Given the description of an element on the screen output the (x, y) to click on. 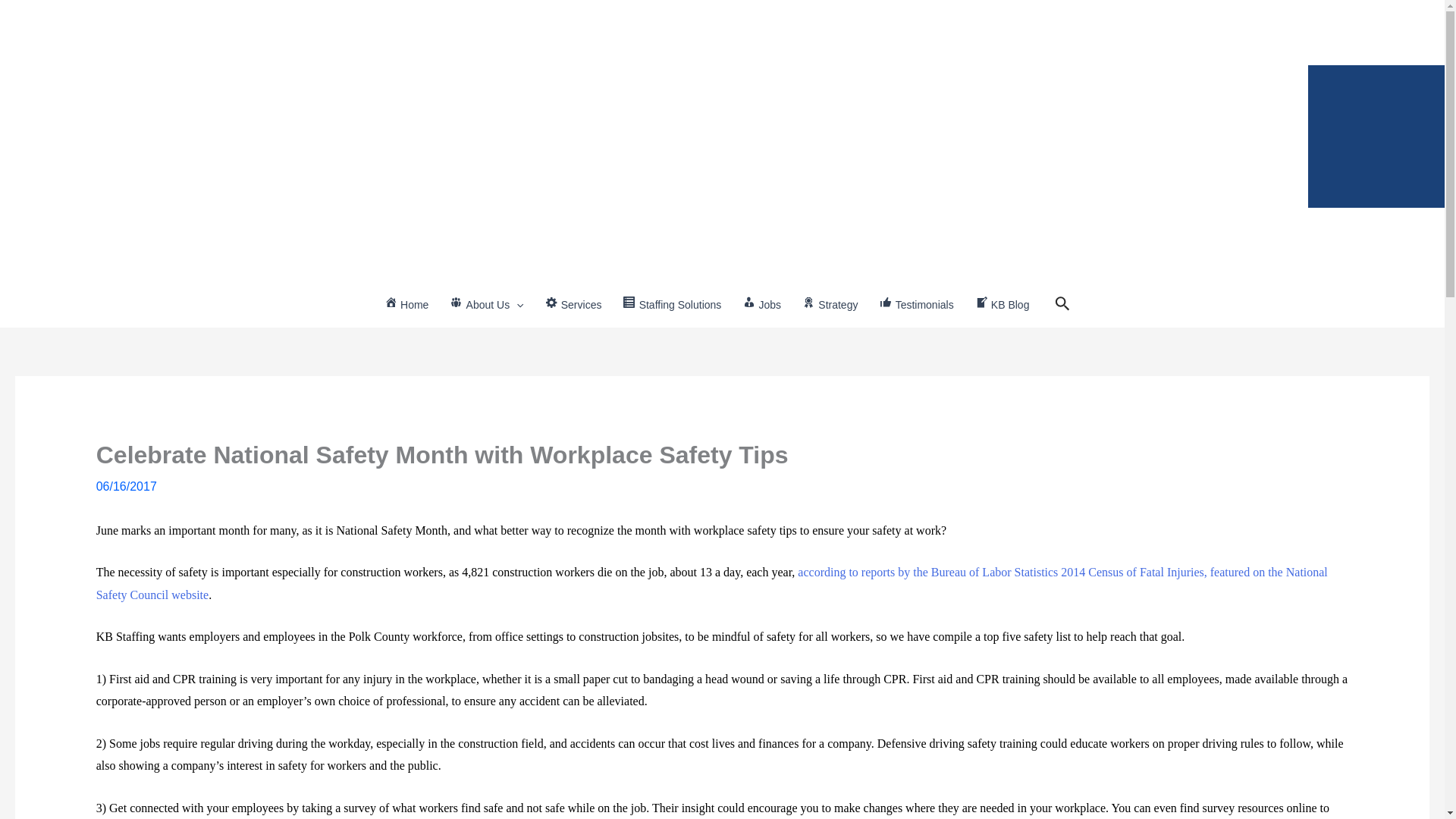
About Us (486, 304)
Strategy (829, 304)
Staffing Solutions (671, 304)
Testimonials (915, 304)
Home (406, 304)
Jobs (762, 304)
KB Blog (1002, 304)
Services (573, 304)
